Given the description of an element on the screen output the (x, y) to click on. 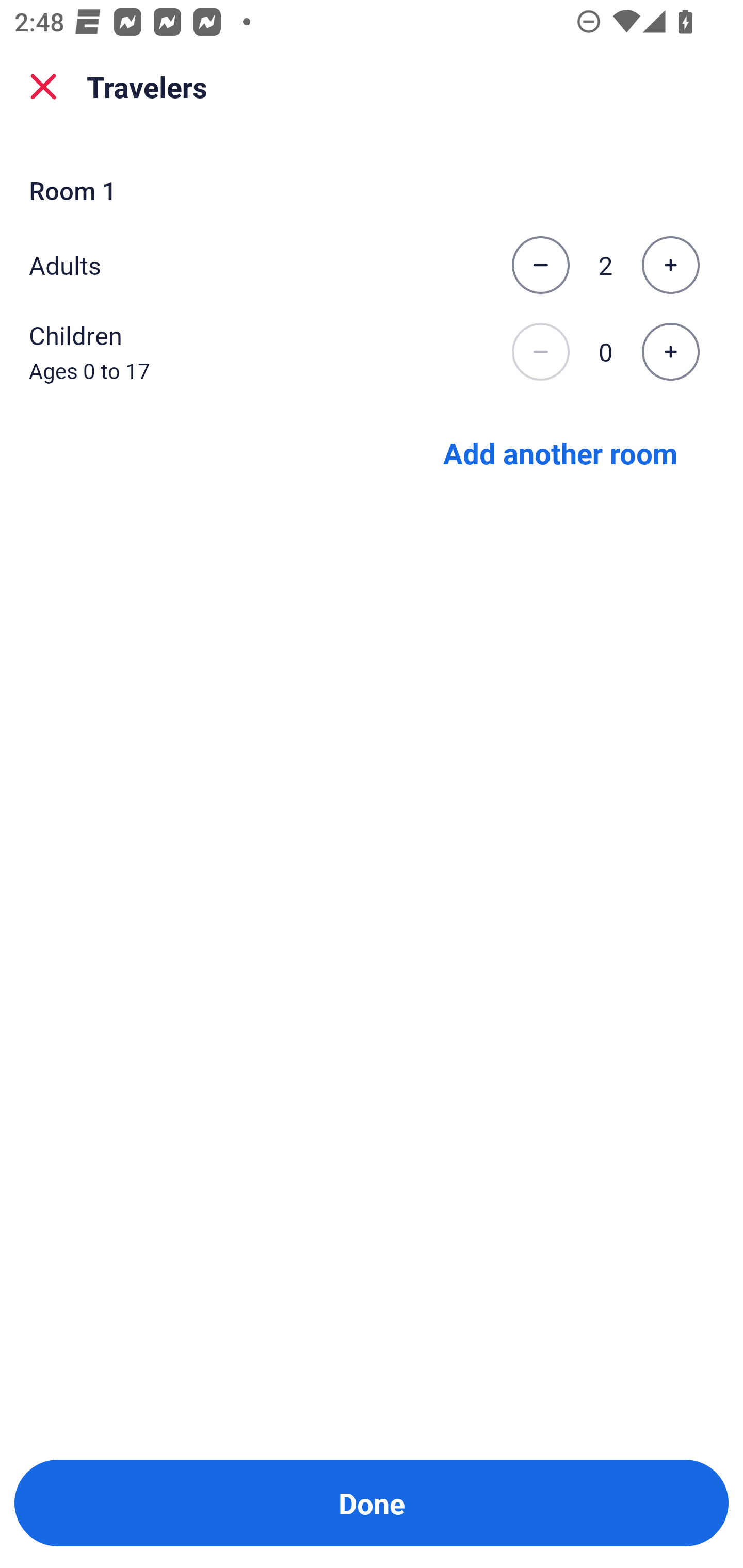
close (43, 86)
Decrease the number of adults (540, 264)
Increase the number of adults (670, 264)
Decrease the number of children (540, 351)
Increase the number of children (670, 351)
Add another room (560, 452)
Done (371, 1502)
